Given the description of an element on the screen output the (x, y) to click on. 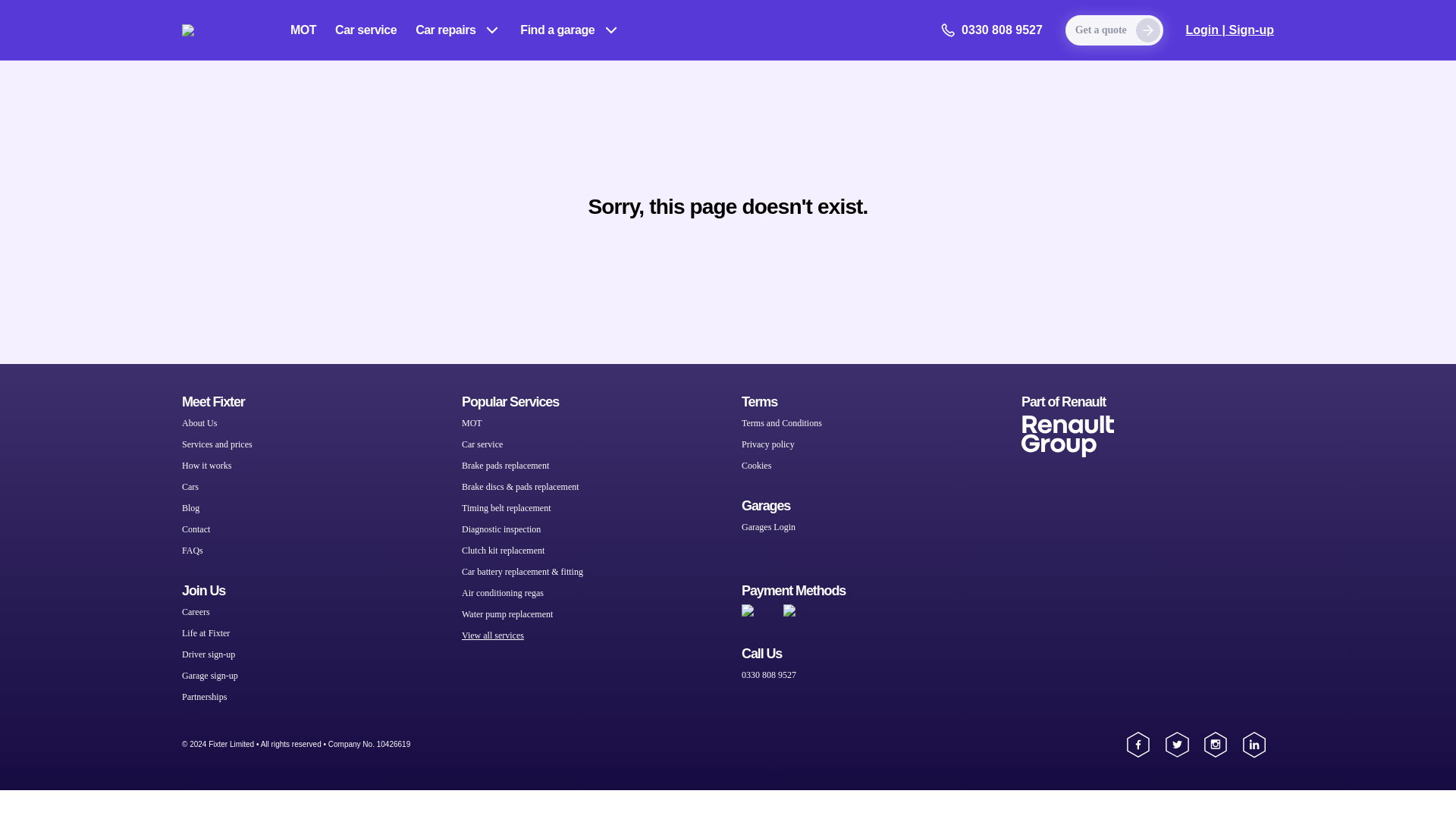
MOT (302, 29)
Partnerships (204, 696)
0330 808 9527 (991, 30)
Car repairs (457, 30)
Get a quote (1114, 30)
Careers (195, 611)
Find a garage (569, 30)
How it works (206, 465)
Garage sign-up (210, 675)
About Us (199, 422)
